Given the description of an element on the screen output the (x, y) to click on. 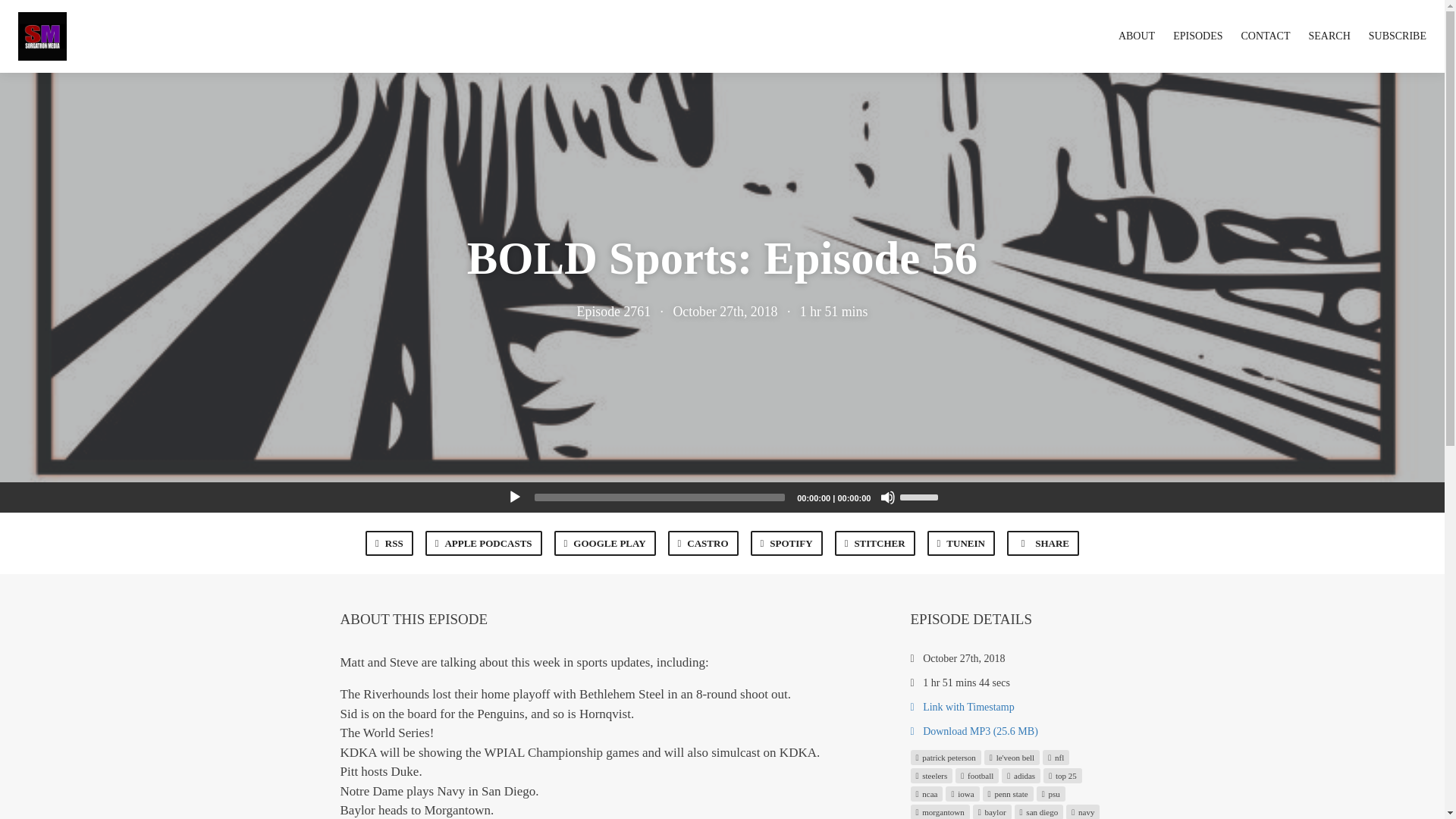
SHARE (1042, 543)
CONTACT (1265, 35)
SUBSCRIBE (1397, 35)
TUNEIN (960, 543)
top 25 (1062, 774)
CASTRO (703, 543)
nfl (1055, 756)
le'veon bell (1011, 756)
san diego (1039, 811)
football (976, 774)
STITCHER (874, 543)
adidas (1021, 774)
SPOTIFY (786, 543)
SEARCH (1329, 35)
psu (1050, 792)
